Given the description of an element on the screen output the (x, y) to click on. 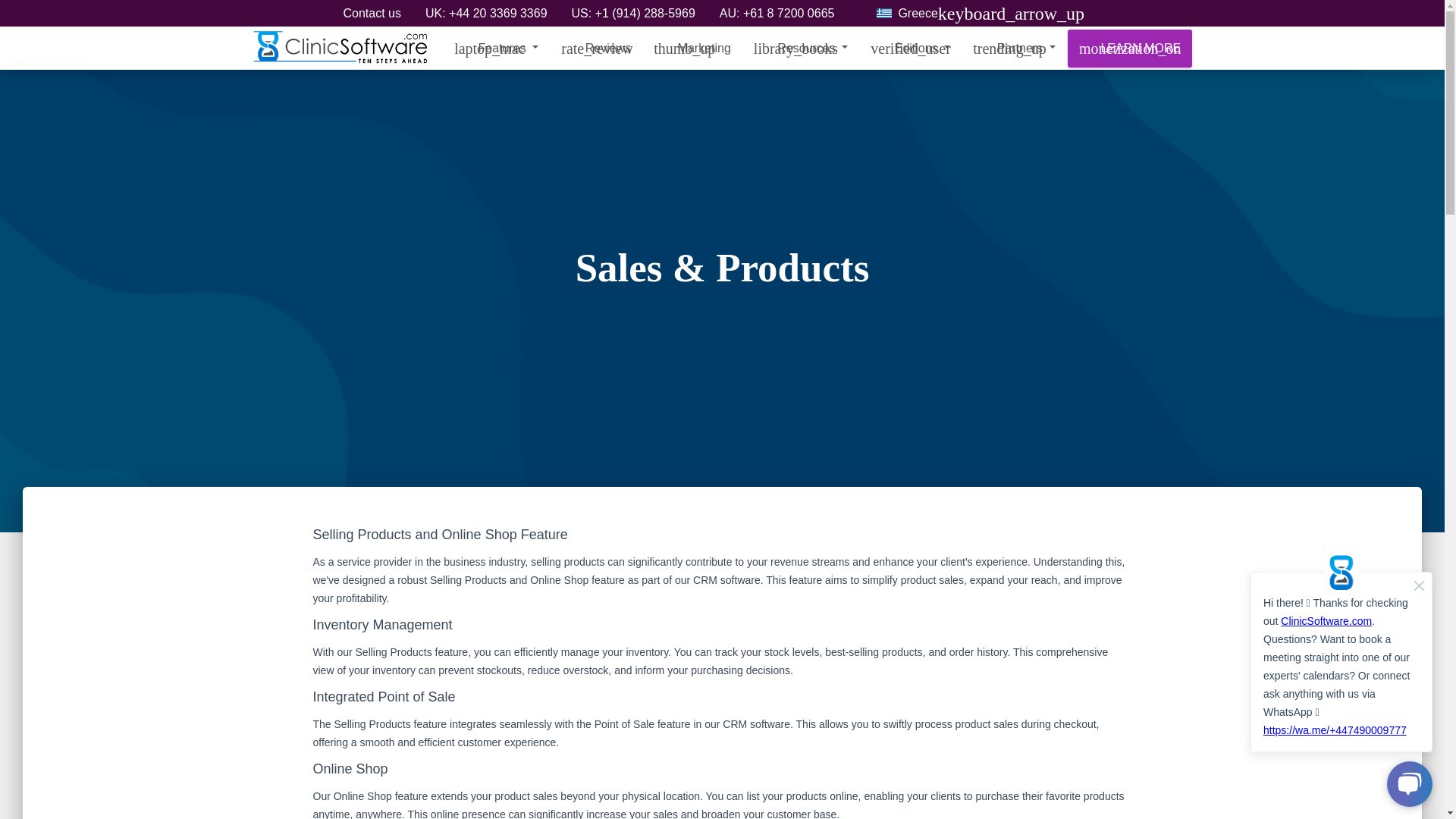
Contact us (371, 14)
